Given the description of an element on the screen output the (x, y) to click on. 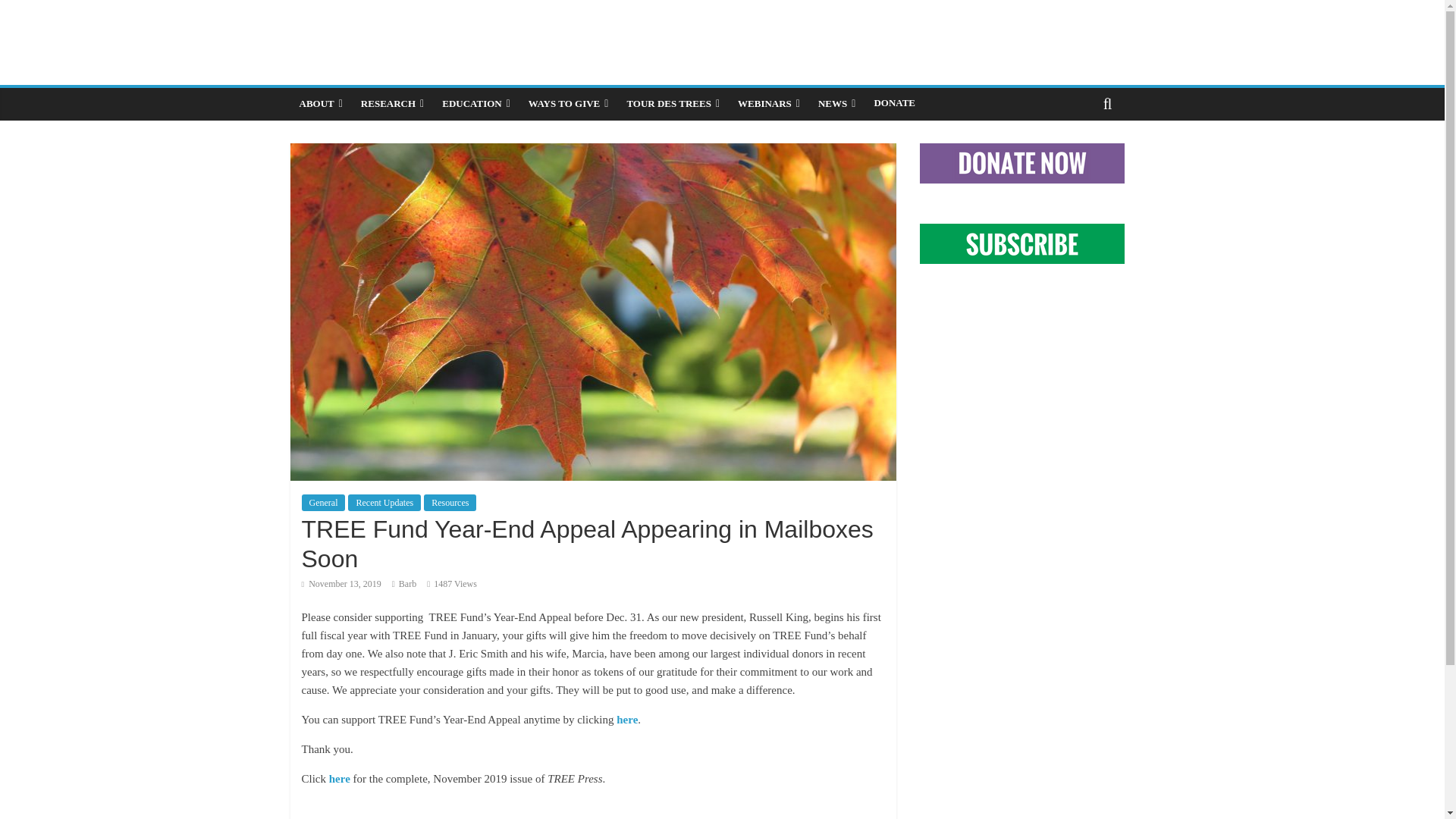
Contact (1137, 22)
EDUCATION (475, 103)
ABOUT (319, 103)
Barb (407, 583)
7:14 pm (341, 583)
WAYS TO GIVE (568, 103)
WEBINARS (769, 103)
RESEARCH (392, 103)
TOUR DES TREES (673, 103)
